Given the description of an element on the screen output the (x, y) to click on. 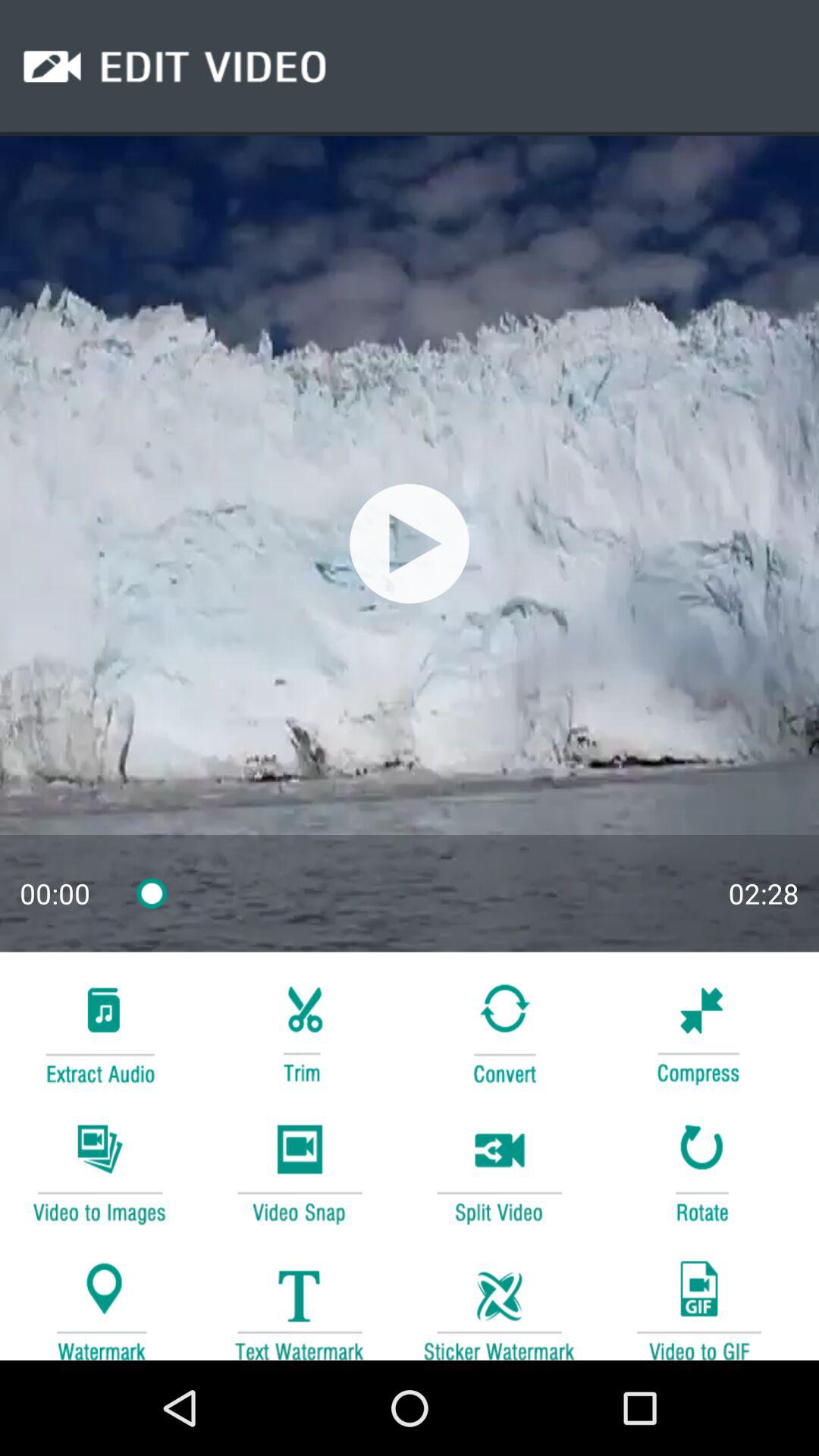
extract audio (99, 1032)
